Given the description of an element on the screen output the (x, y) to click on. 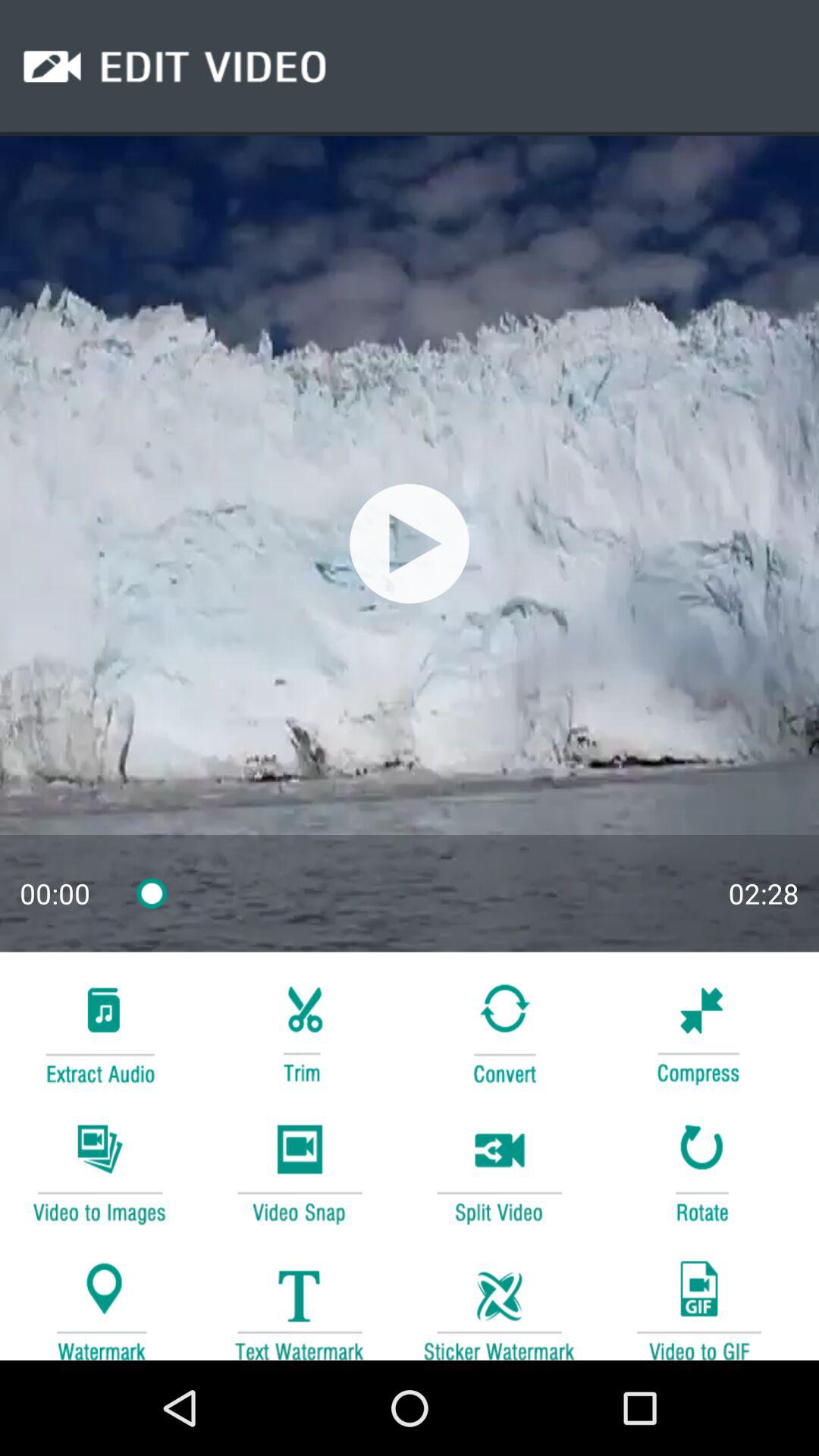
extract audio (99, 1032)
